Given the description of an element on the screen output the (x, y) to click on. 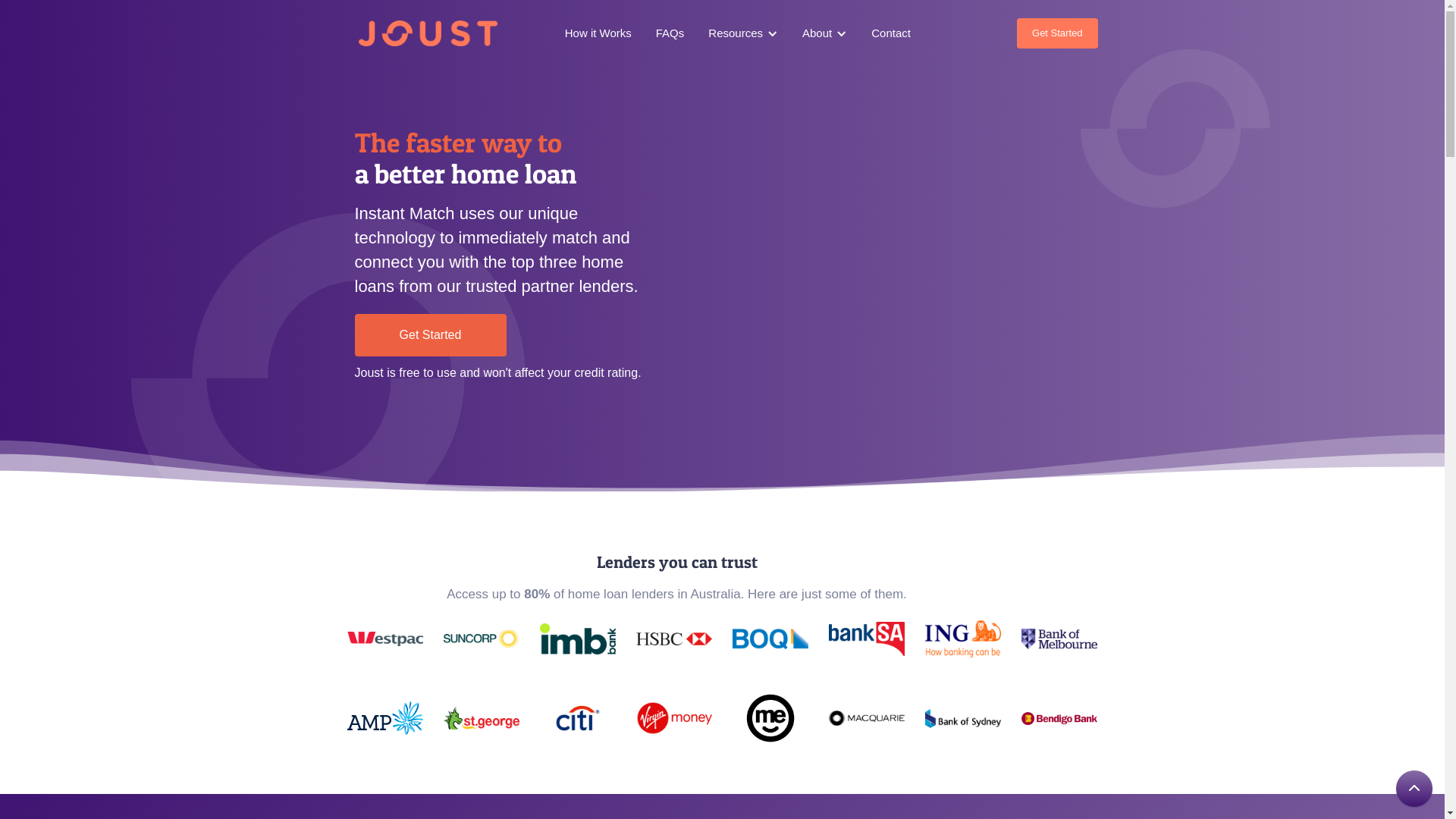
FAQs Element type: text (669, 33)
Contact Element type: text (890, 33)
How it Works Element type: text (597, 33)
Get Started Element type: text (430, 334)
Get Started Element type: text (1056, 33)
  Element type: text (355, 406)
About Element type: text (816, 33)
